Given the description of an element on the screen output the (x, y) to click on. 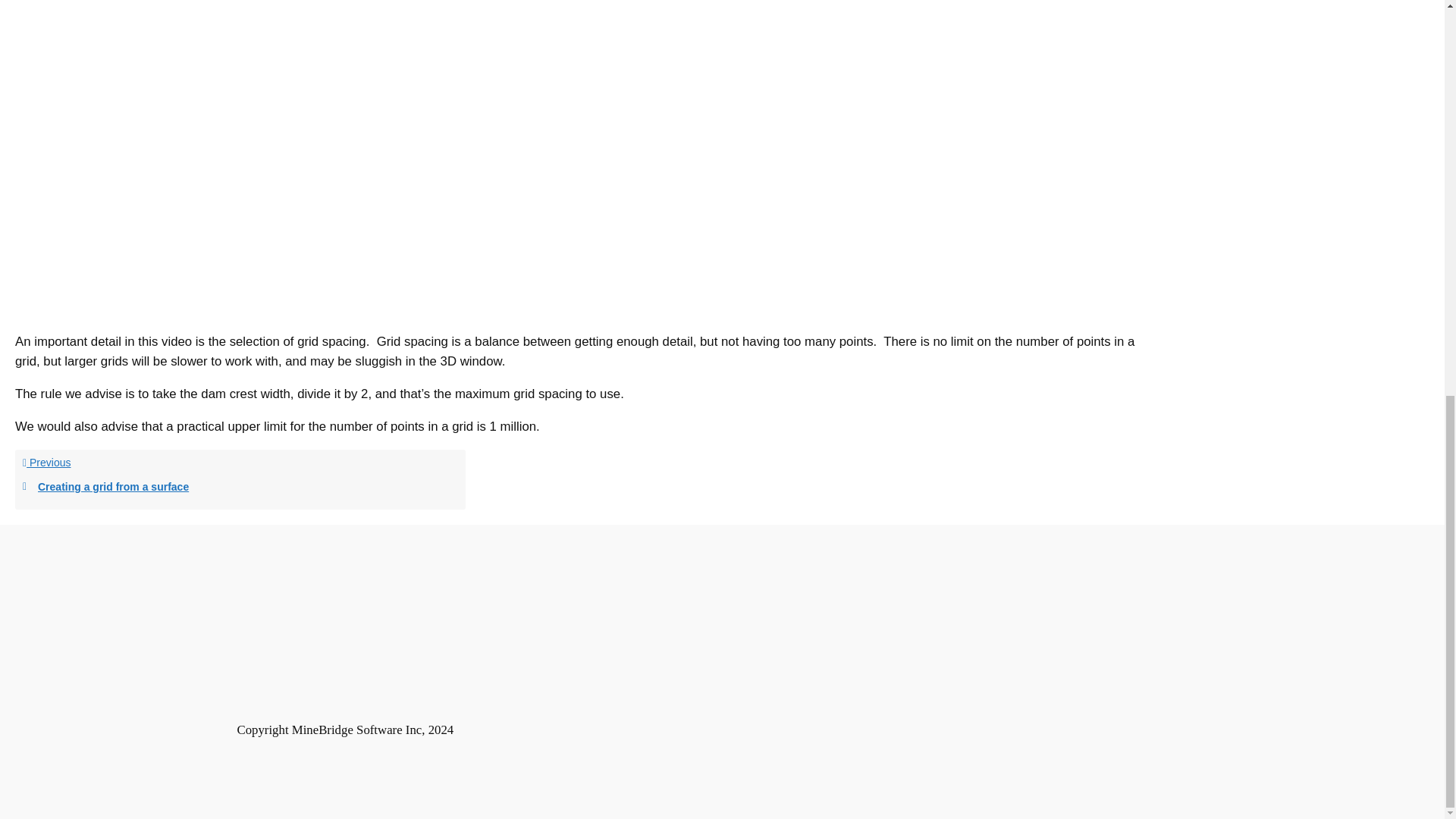
Creating a grid from a surface (239, 479)
